Given the description of an element on the screen output the (x, y) to click on. 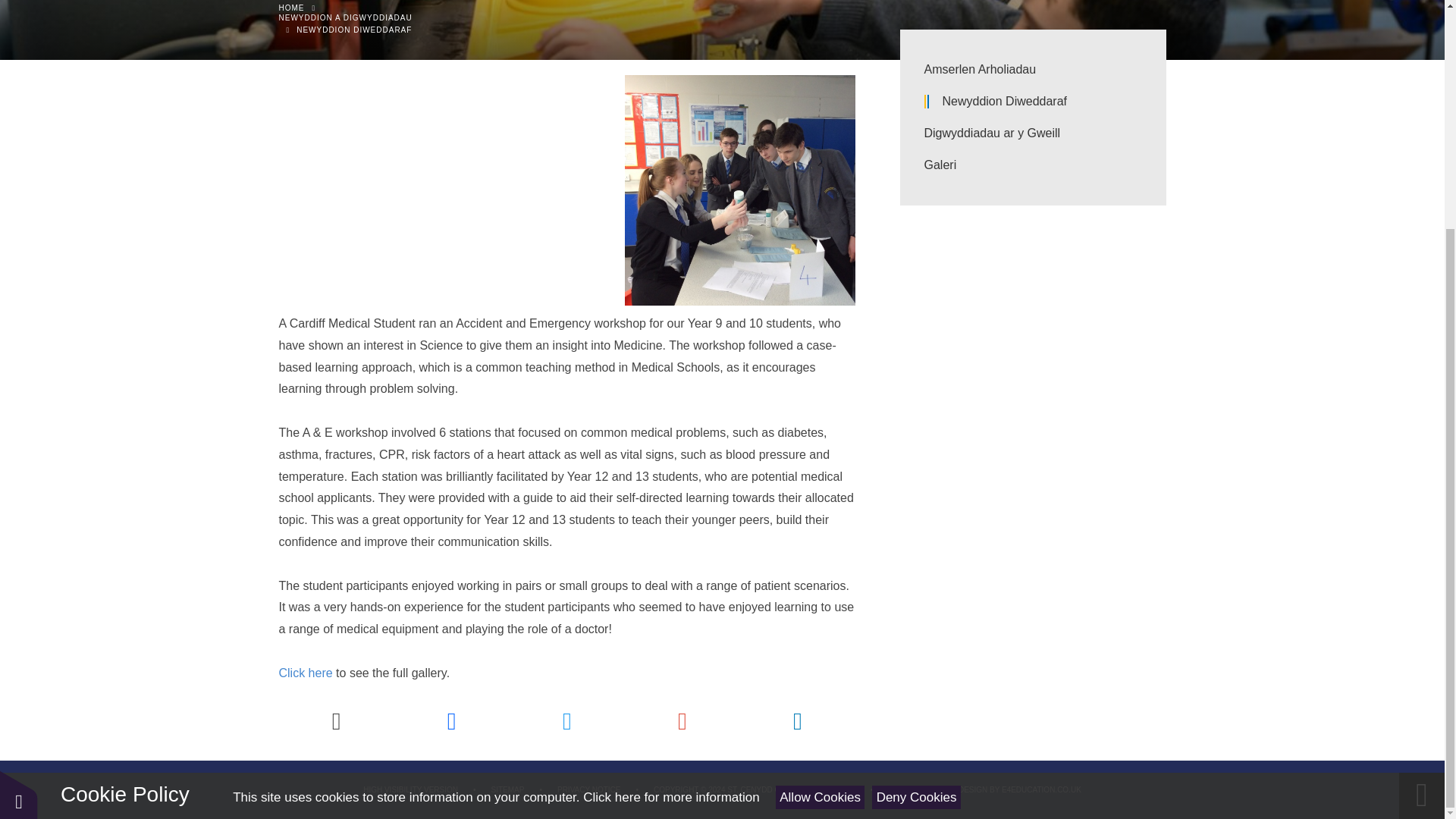
Allow Cookies (820, 489)
NEWYDDION DIWEDDARAF (354, 29)
Deny Cookies (915, 489)
E4EDUCATION.CO.UK (1041, 789)
e4education (1041, 789)
Digwyddiadau ar y Gweill (1032, 133)
Allow Cookies (820, 489)
See cookie policy (670, 489)
Galeri (1032, 164)
NEWYDDION A DIGWYDDIADAU (722, 28)
